Given the description of an element on the screen output the (x, y) to click on. 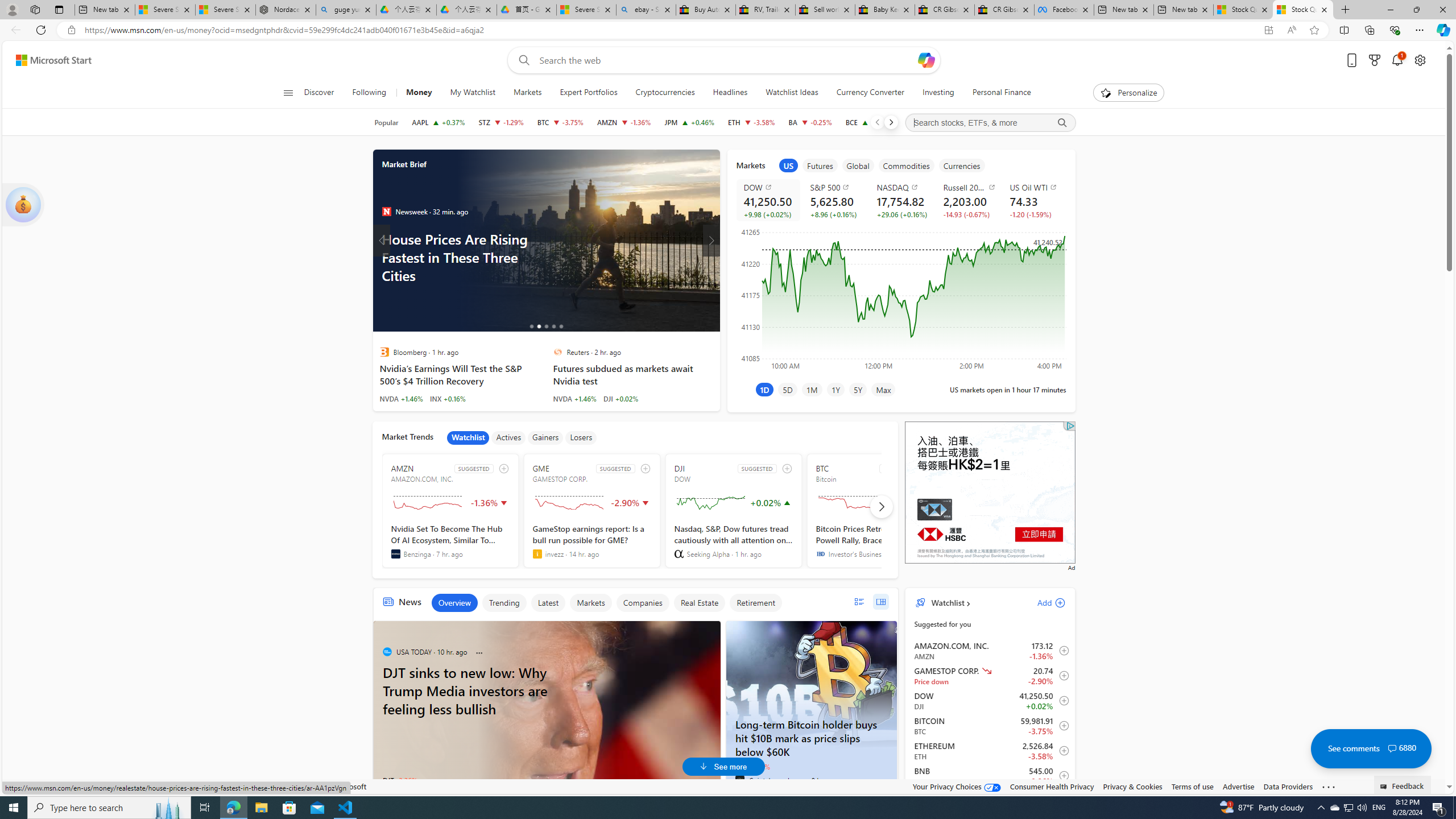
Class: oneFooter_seeMore-DS-EntryPoint1-1 (1328, 786)
BTC -3.75% (752, 766)
Your Privacy Choices (956, 785)
Terms of use (1192, 786)
US Oil WTI (1035, 187)
BTC Bitcoin decrease 59,981.91 -2,246.92 -3.75% item3 (989, 725)
STZ CONSTELLATION BRANDS, INC. decrease 239.98 -3.13 -1.29% (500, 122)
BNB BNB decrease 545.00 -4.68 -0.86% item5 (989, 775)
Facebook (1064, 9)
INX S&P 500 increase 5,625.80 +8.96 +0.16% item6 (989, 800)
list layout (858, 601)
Skip to footer (46, 59)
